Given the description of an element on the screen output the (x, y) to click on. 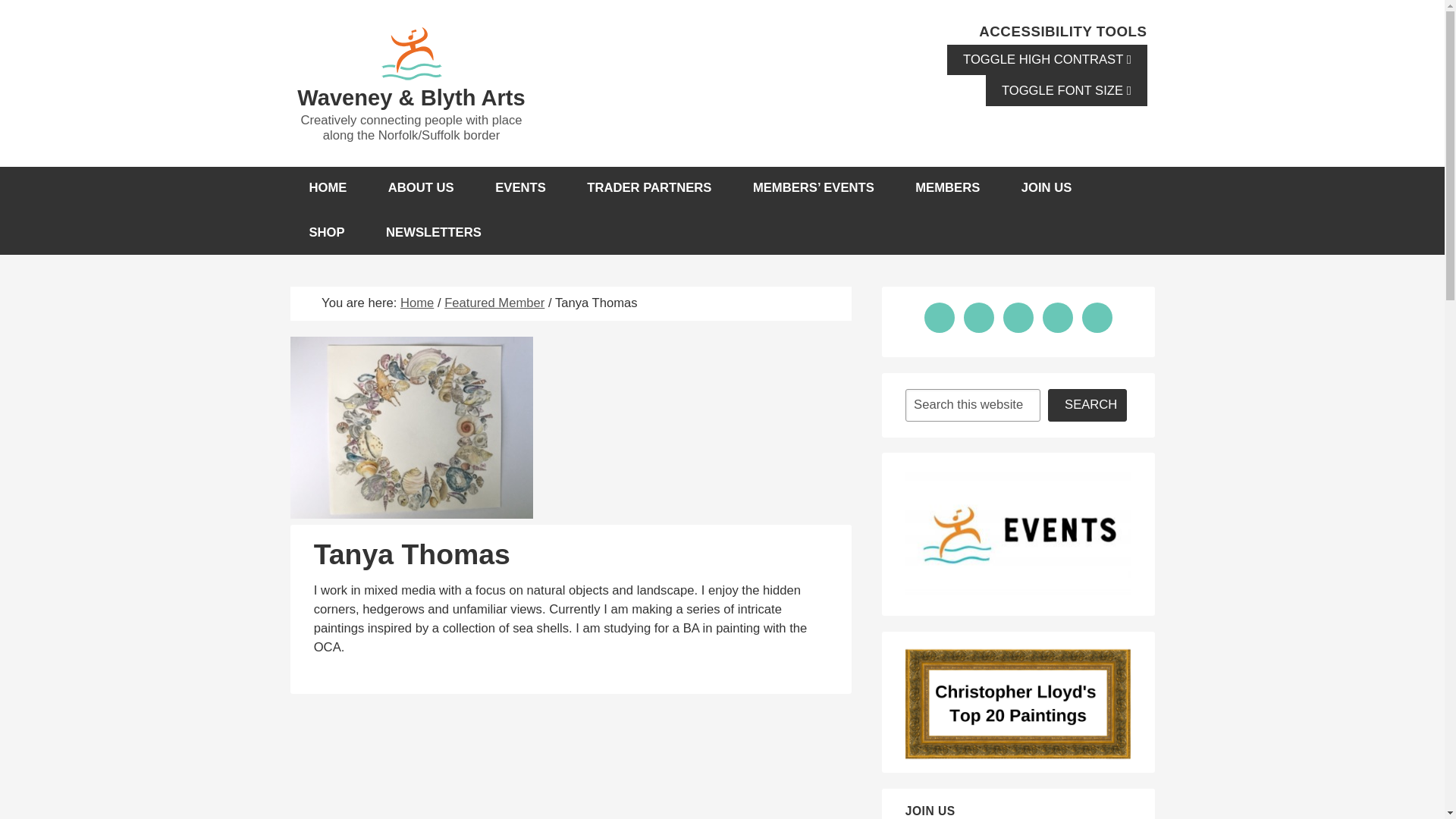
MEMBERS (947, 188)
Search (1087, 405)
Featured Member (494, 302)
Search (1087, 405)
NEWSLETTERS (433, 232)
SHOP (325, 232)
ABOUT US (421, 188)
TOGGLE FONT SIZE (1066, 90)
TRADER PARTNERS (648, 188)
EVENTS (520, 188)
